Given the description of an element on the screen output the (x, y) to click on. 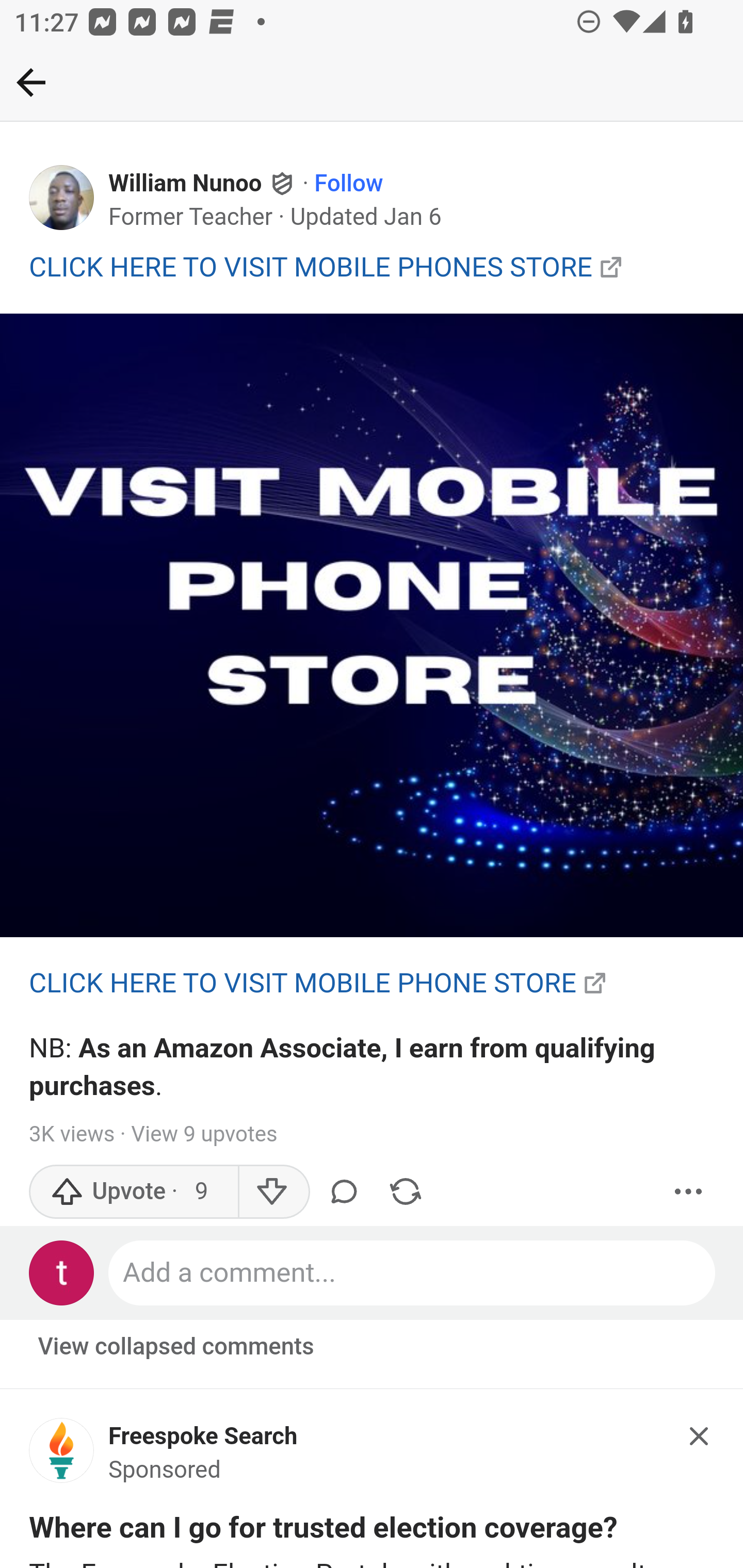
Back (30, 82)
Profile photo for William Nunoo (61, 198)
William Nunoo (185, 183)
Follow (349, 183)
CLICK HERE TO VISIT MOBILE PHONES STORE (310, 266)
main-qimg-e6cd300878b5859baa3a4fcd2af8e83d-pjlq (371, 626)
CLICK HERE TO VISIT MOBILE PHONE STORE (303, 982)
View 9 upvotes (203, 1133)
Upvote (133, 1191)
Downvote (273, 1191)
Comment (346, 1191)
Share (405, 1191)
More (688, 1191)
Profile photo for Test Appium (61, 1272)
Add a comment... (412, 1272)
View collapsed comments (176, 1346)
Hide (699, 1436)
main-qimg-784c0b59c1772b60fd46a882711c92a8 (61, 1455)
Freespoke Search (202, 1436)
Sponsored (165, 1470)
Where can I go for trusted election coverage? (323, 1531)
